Given the description of an element on the screen output the (x, y) to click on. 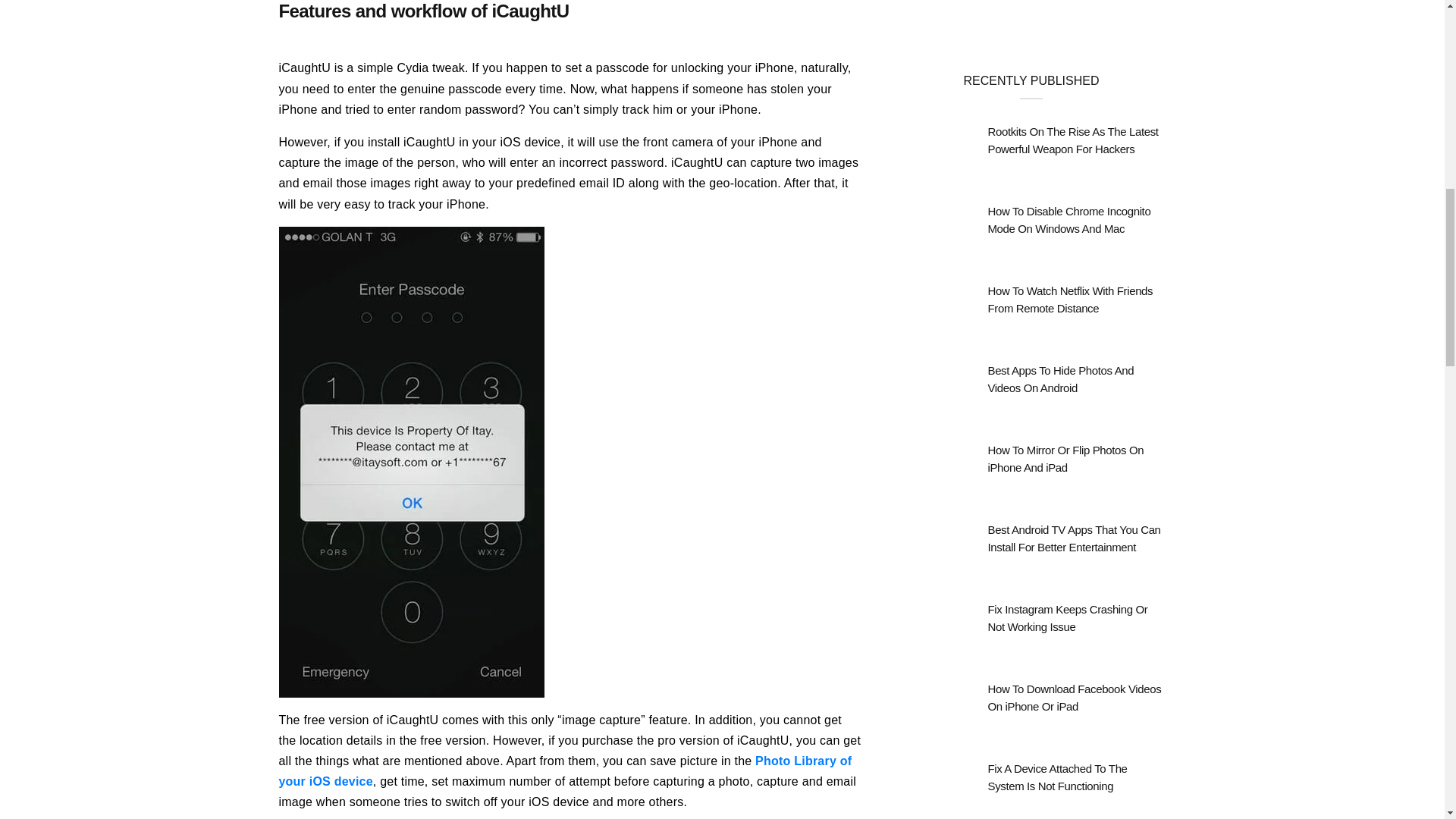
Photo Library of your iOS device (565, 770)
